Given the description of an element on the screen output the (x, y) to click on. 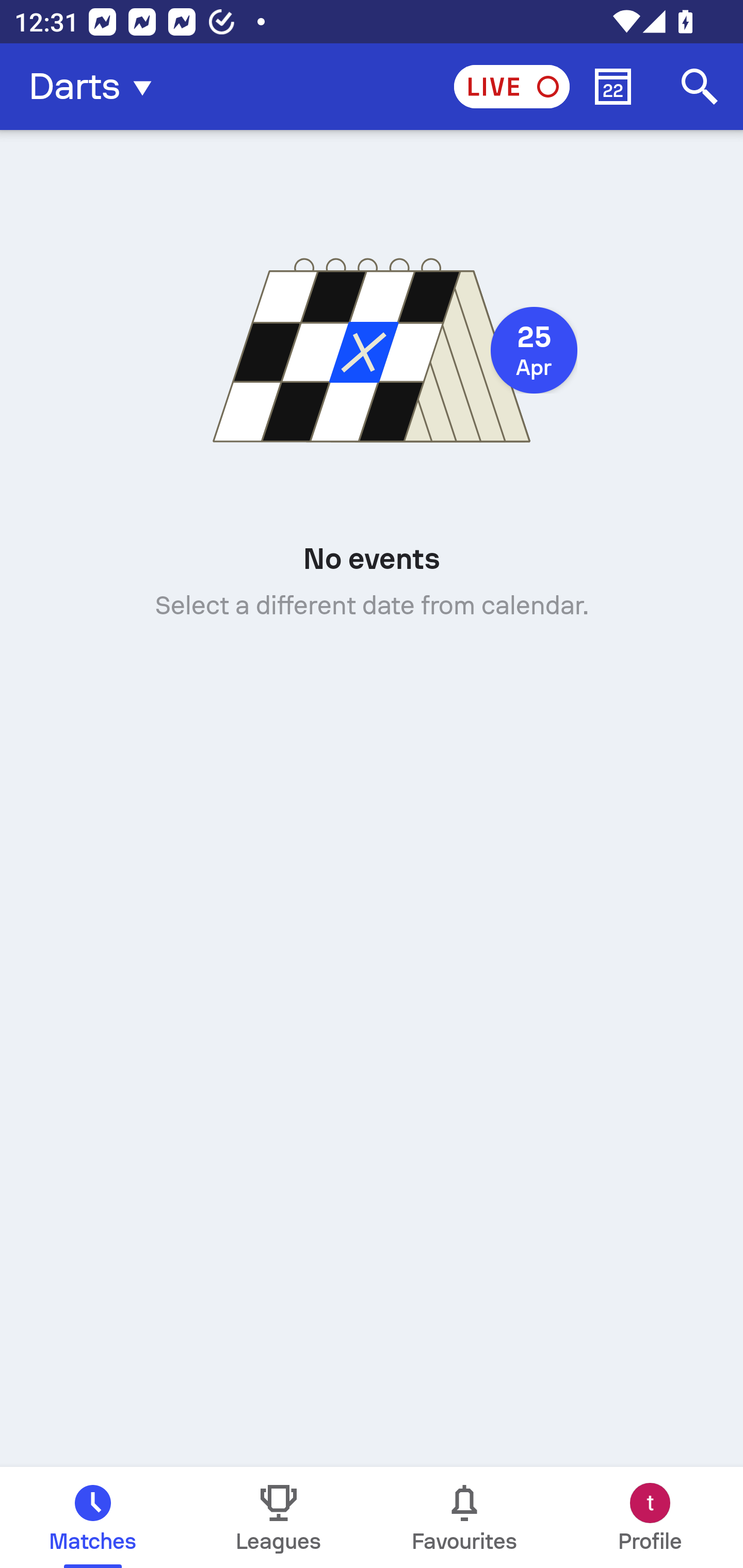
Darts (96, 86)
Calendar (612, 86)
Search (699, 86)
25 Apr (533, 350)
Leagues (278, 1517)
Favourites (464, 1517)
Profile (650, 1517)
